Given the description of an element on the screen output the (x, y) to click on. 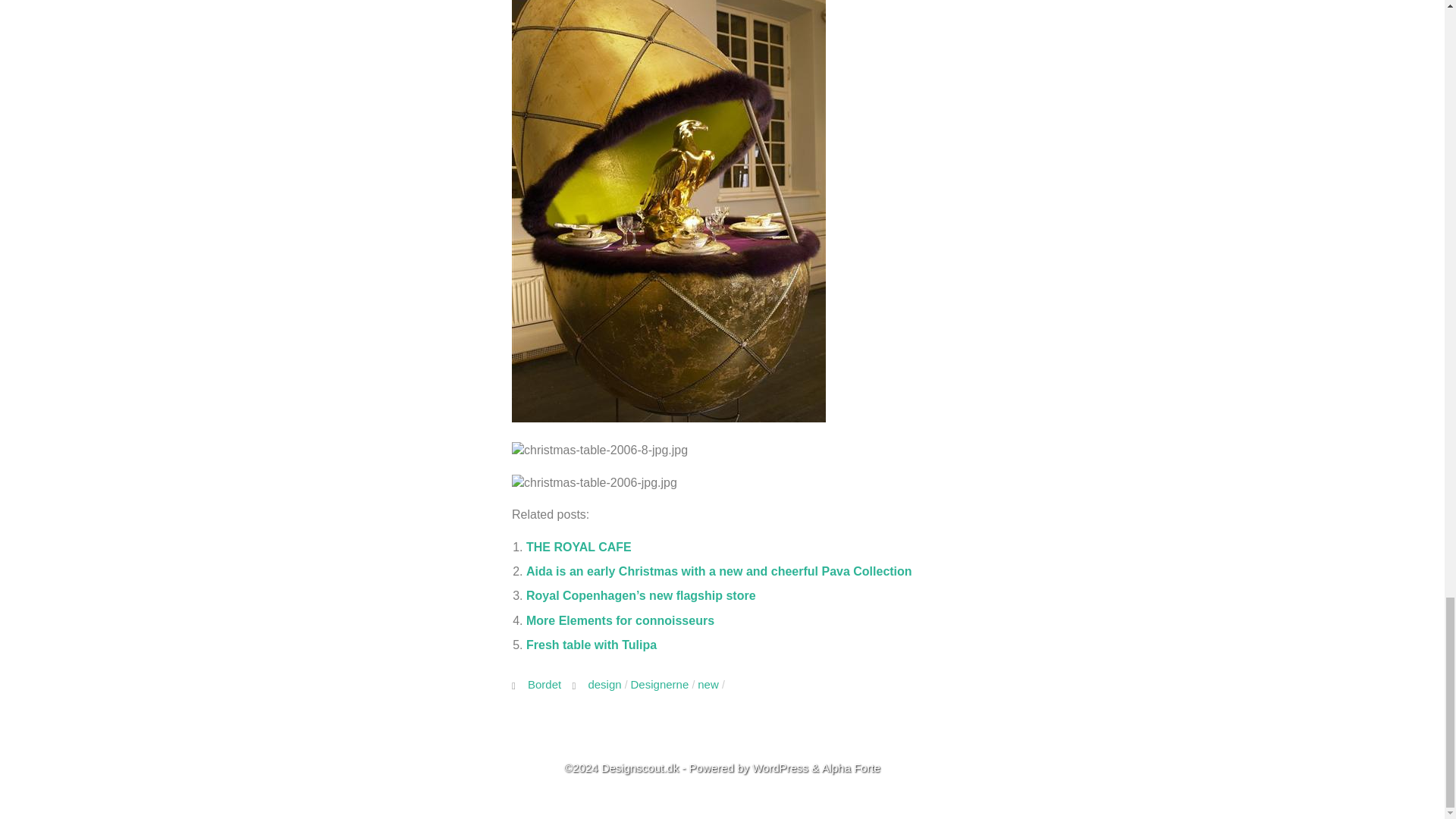
More Elements for connoisseurs (619, 620)
Fresh table with Tulipa (590, 644)
Alpha Forte Wordpress Theme (850, 767)
Semantic Personal Publishing Platform (780, 767)
THE ROYAL CAFE (578, 546)
